Given the description of an element on the screen output the (x, y) to click on. 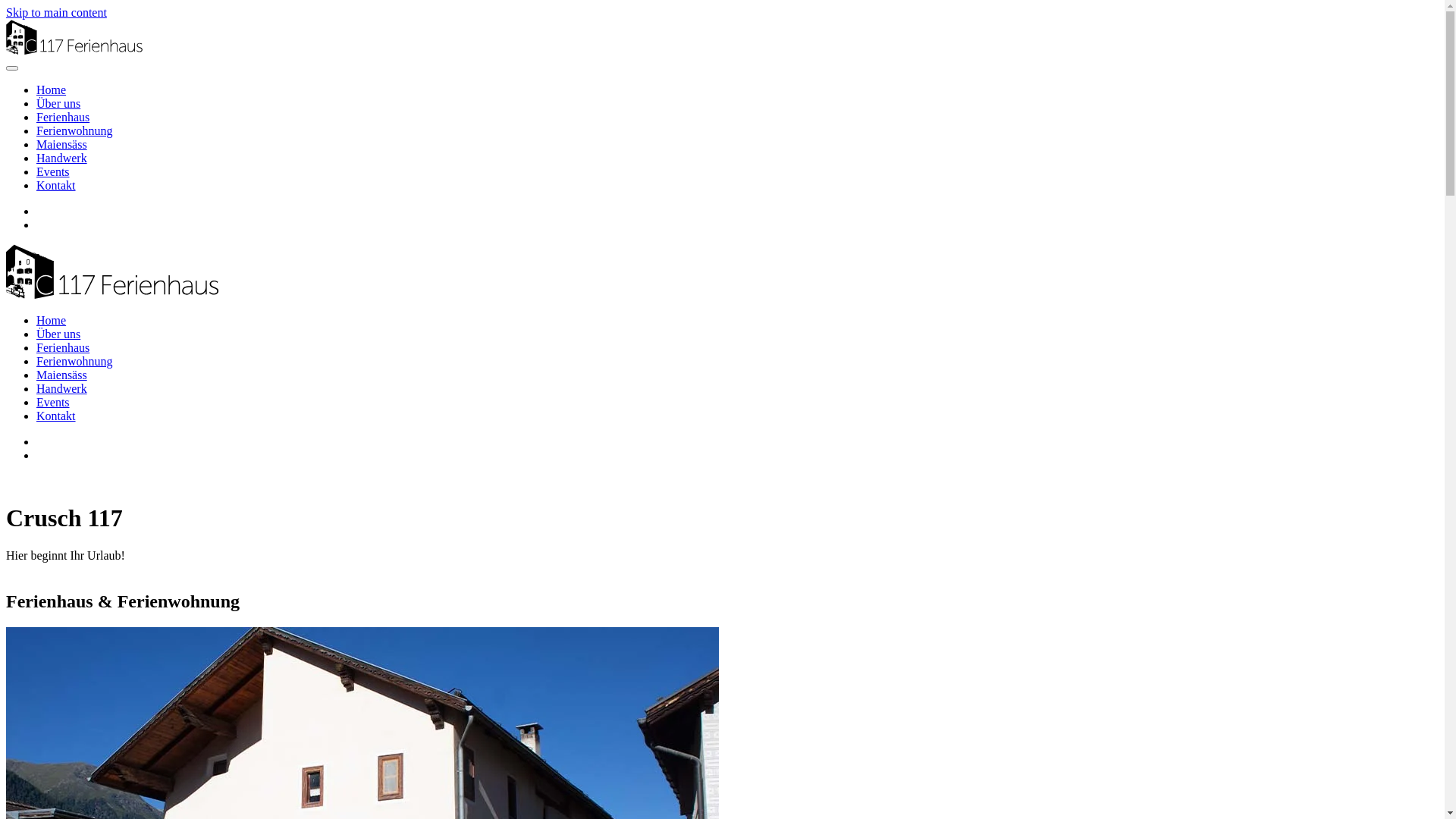
Ferienhaus Element type: text (62, 347)
Skip to main content Element type: text (56, 12)
Events Element type: text (52, 171)
Home Element type: text (50, 319)
Home Element type: text (50, 89)
Events Element type: text (52, 401)
Kontakt Element type: text (55, 415)
Ferienwohnung Element type: text (74, 360)
Ferienhaus Element type: text (62, 116)
Ferienwohnung Element type: text (74, 130)
Handwerk Element type: text (61, 157)
Kontakt Element type: text (55, 184)
Handwerk Element type: text (61, 388)
